Given the description of an element on the screen output the (x, y) to click on. 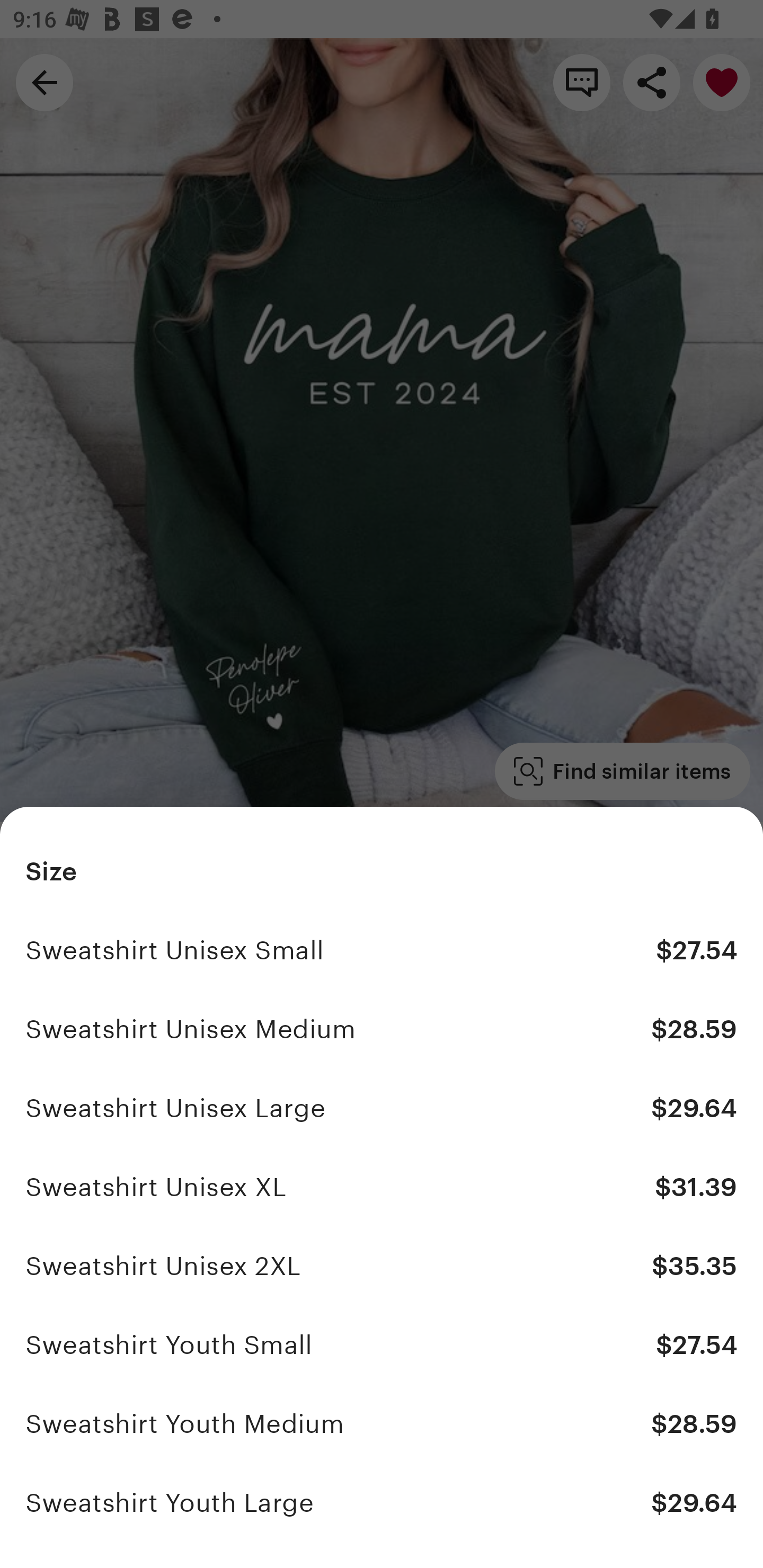
Sweatshirt Unisex Small $27.54 (381, 950)
Sweatshirt Unisex Medium $28.59 (381, 1029)
Sweatshirt Unisex Large $29.64 (381, 1108)
Sweatshirt Unisex XL $31.39 (381, 1186)
Sweatshirt Unisex 2XL $35.35 (381, 1266)
Sweatshirt Youth Small $27.54 (381, 1345)
Sweatshirt Youth Medium $28.59 (381, 1423)
Sweatshirt Youth Large $29.64 (381, 1502)
